Given the description of an element on the screen output the (x, y) to click on. 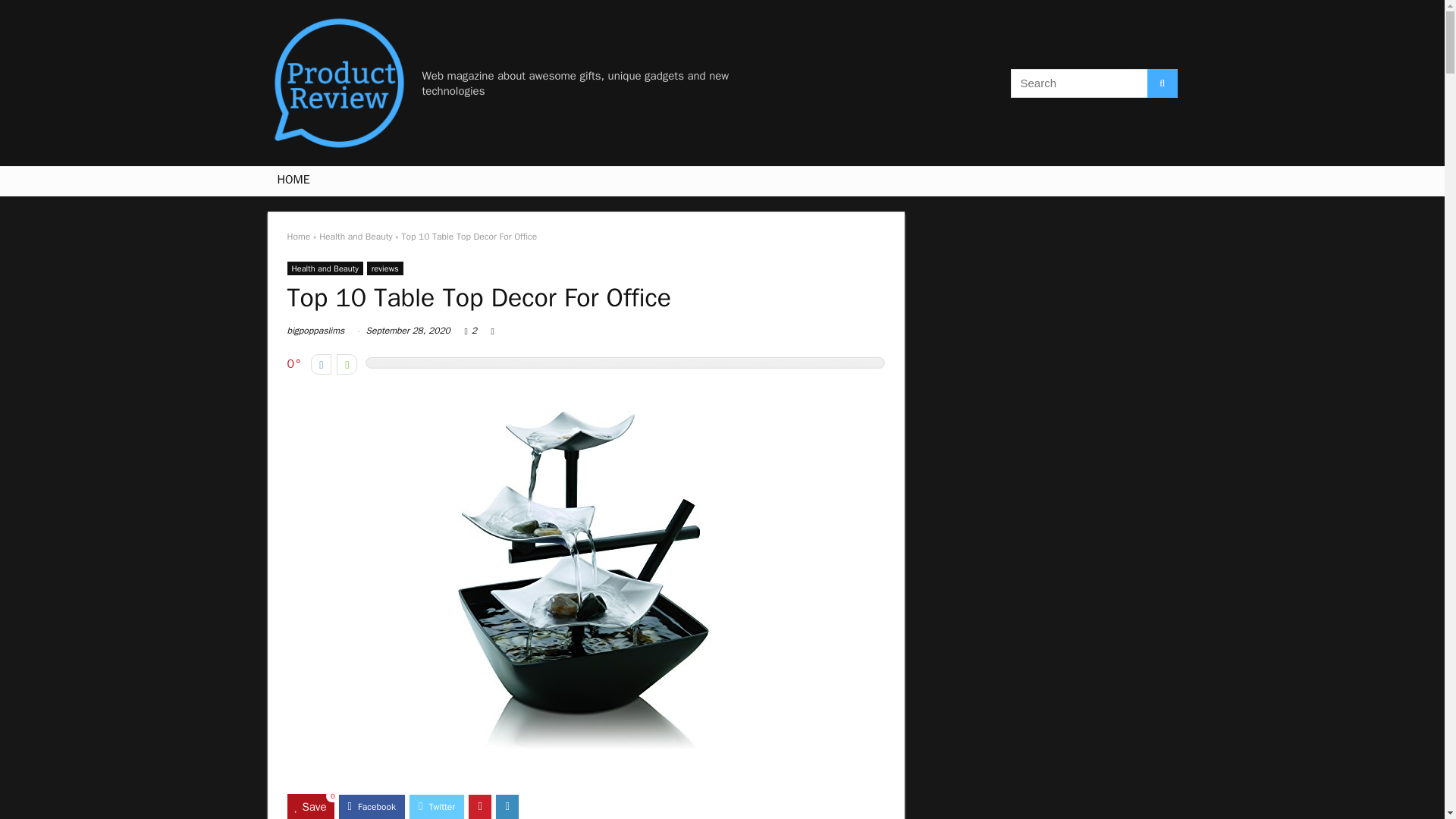
Home (298, 236)
reviews (384, 268)
Vote down (321, 363)
bigpoppaslims (314, 330)
View all posts in reviews (384, 268)
View all posts in Health and Beauty (324, 268)
Health and Beauty (354, 236)
Vote up (346, 363)
HOME (292, 181)
Health and Beauty (324, 268)
